Given the description of an element on the screen output the (x, y) to click on. 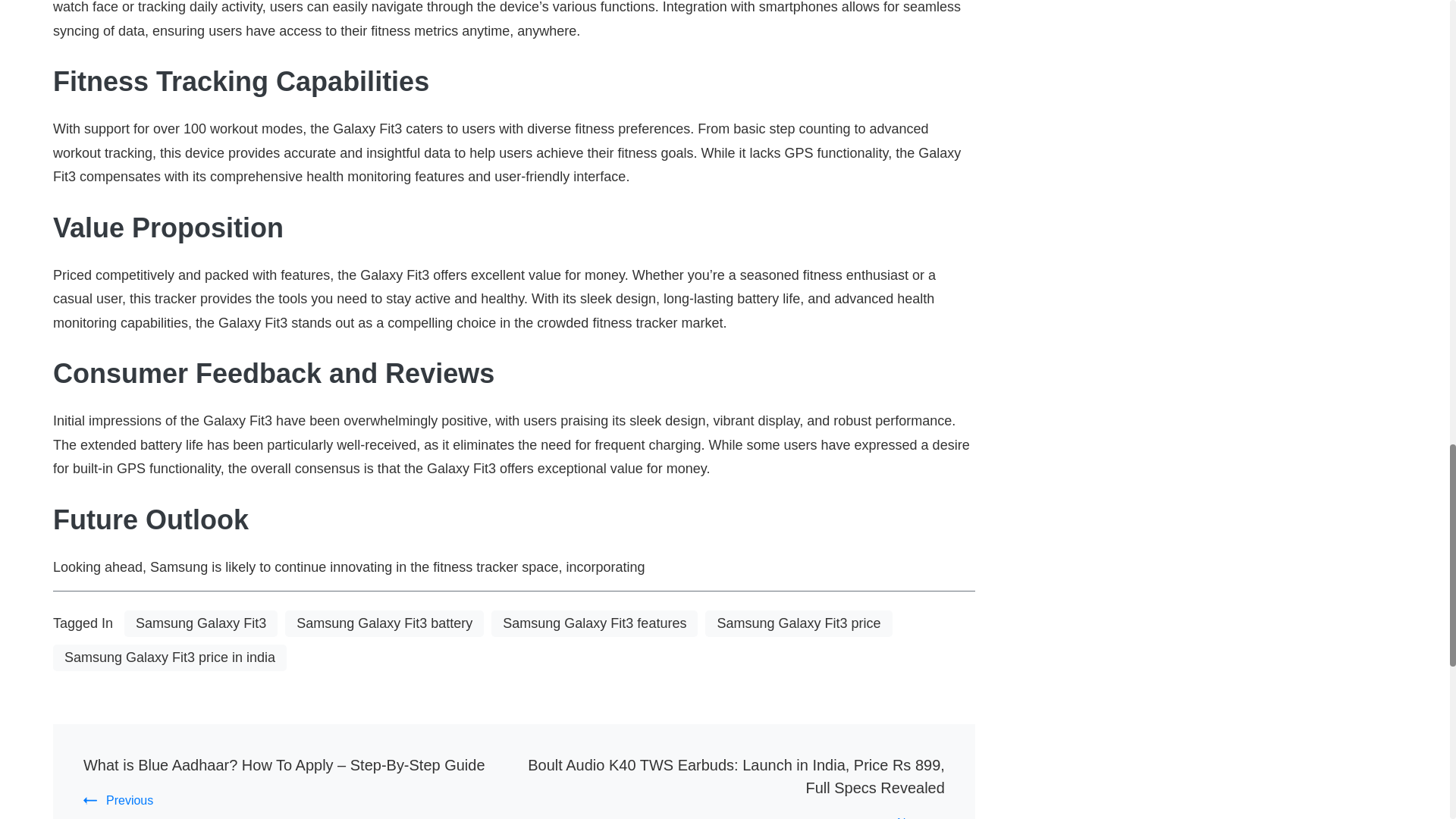
Next (920, 817)
Samsung Galaxy Fit3 battery (384, 623)
Samsung Galaxy Fit3 price in india (169, 657)
Samsung Galaxy Fit3 features (594, 623)
Previous (117, 799)
Samsung Galaxy Fit3 price (797, 623)
Samsung Galaxy Fit3 (200, 623)
